Given the description of an element on the screen output the (x, y) to click on. 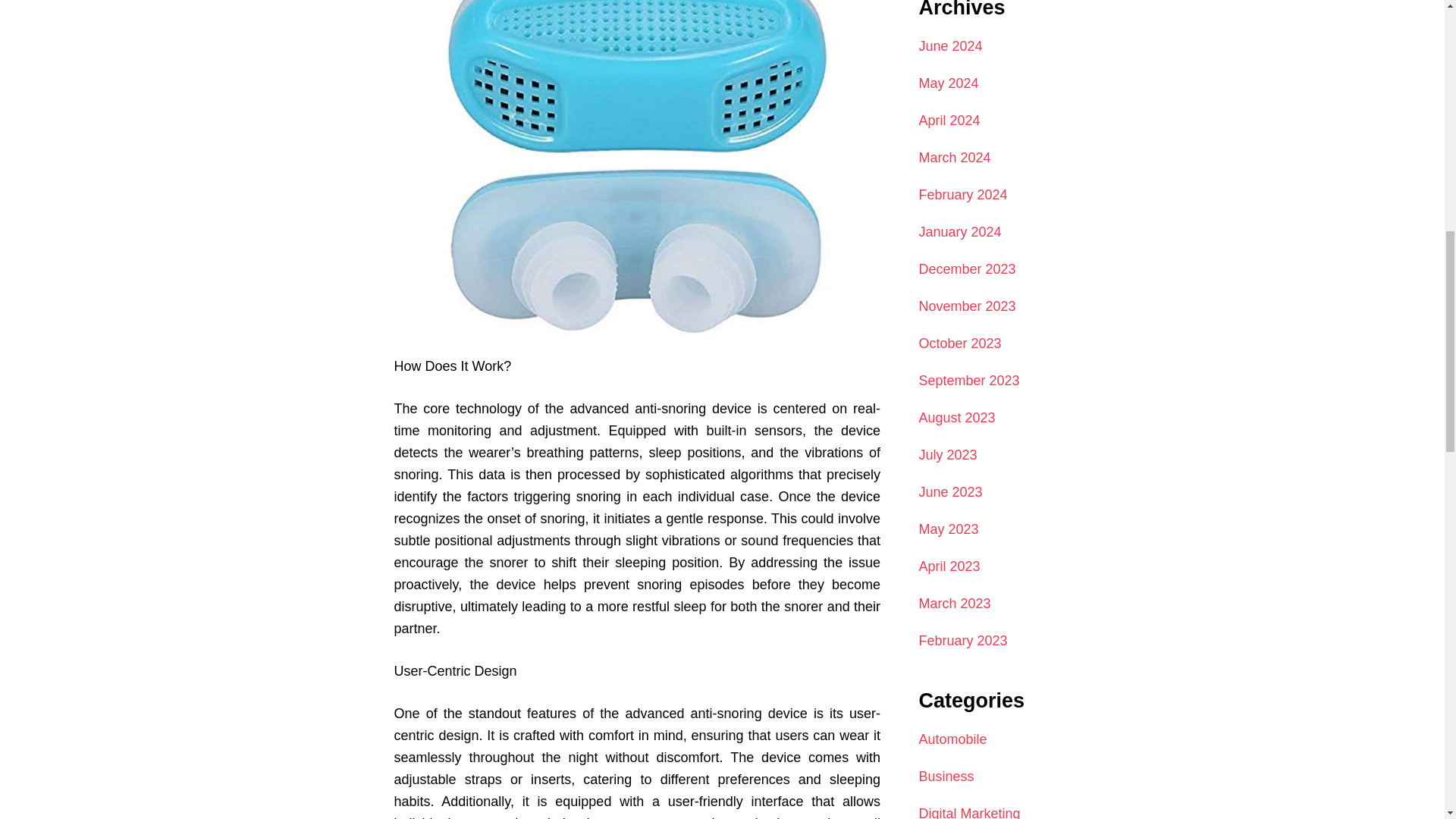
June 2024 (949, 46)
